Given the description of an element on the screen output the (x, y) to click on. 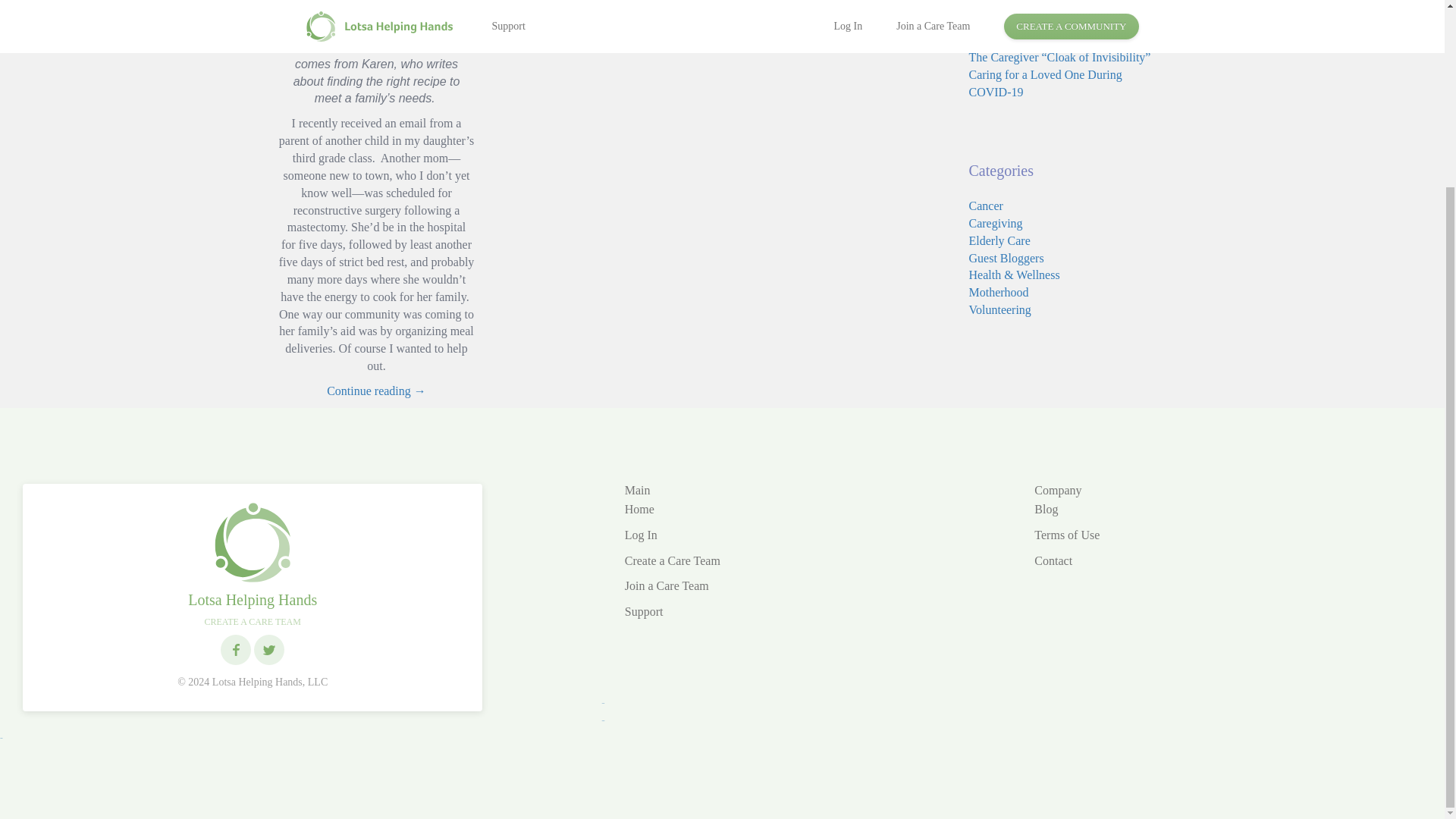
Join a Care Team (666, 585)
Cancer (986, 205)
9 Things to Say to Someone with Cancer (1050, 31)
Caregiving (996, 223)
Home (638, 508)
Blog (1045, 508)
Caring for a Loved One During COVID-19 (1045, 82)
Create a Care Team (672, 560)
Guest Bloggers (1006, 256)
Terms of Use (1066, 534)
Contact (1052, 560)
Elderly Care (999, 240)
